Given the description of an element on the screen output the (x, y) to click on. 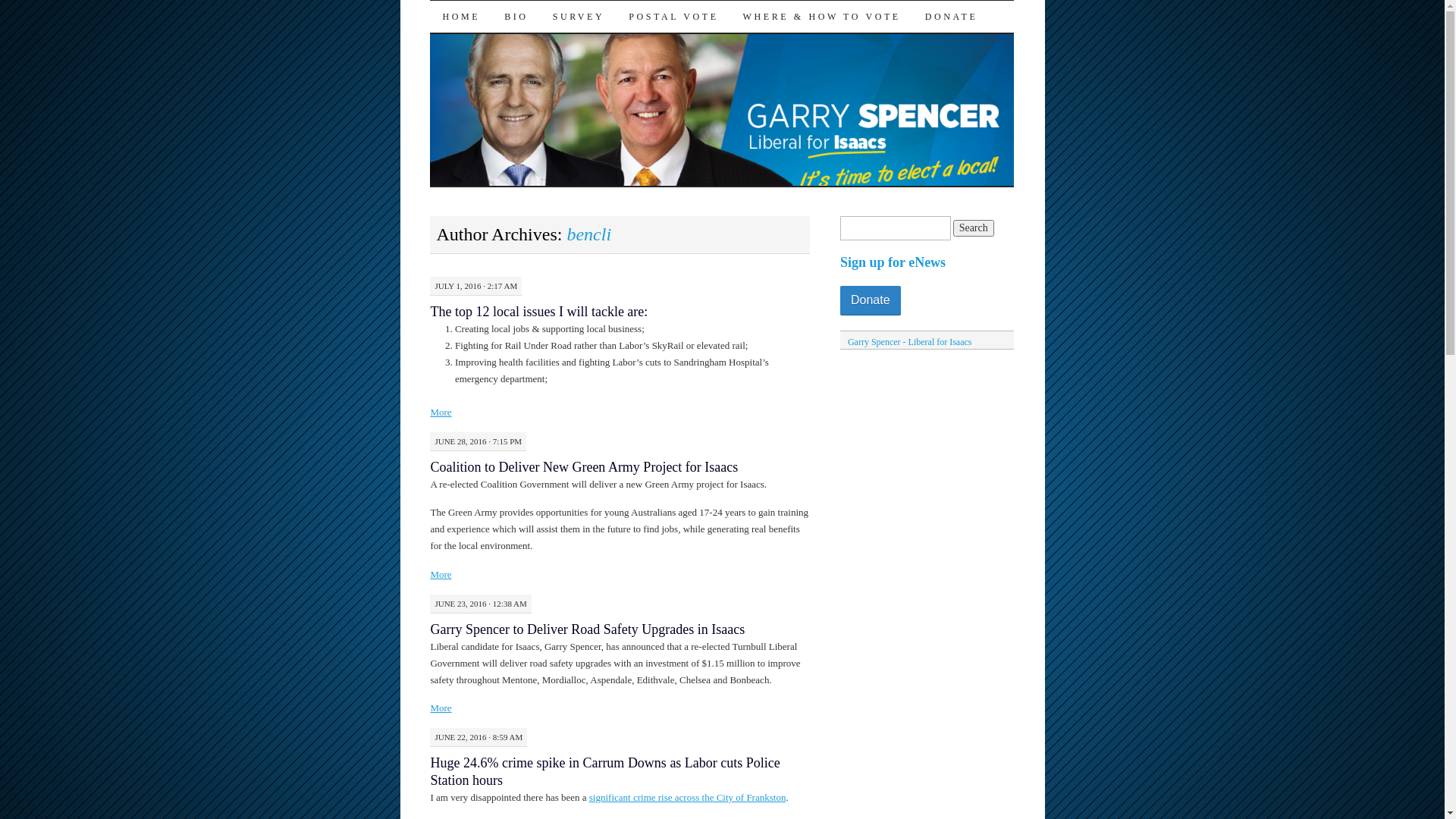
BIO Element type: text (515, 16)
WHERE & HOW TO VOTE Element type: text (822, 16)
Garry Spencer to Deliver Road Safety Upgrades in Isaacs Element type: text (586, 629)
significant crime rise across the City of Frankston Element type: text (687, 797)
HOME Element type: text (460, 16)
Donate Element type: text (870, 299)
bencli Element type: text (588, 234)
POSTAL VOTE Element type: text (673, 16)
More Element type: text (440, 411)
SURVEY Element type: text (578, 16)
DONATE Element type: text (951, 16)
The top 12 local issues I will tackle are: Element type: text (538, 311)
Search Element type: text (973, 227)
More Element type: text (440, 707)
More Element type: text (440, 574)
SKIP TO CONTENT Element type: text (441, 47)
Coalition to Deliver New Green Army Project for Isaacs Element type: text (583, 466)
Garry Spencer - Liberal for Isaacs Element type: text (909, 341)
Sign up for eNews Element type: text (892, 263)
